Given the description of an element on the screen output the (x, y) to click on. 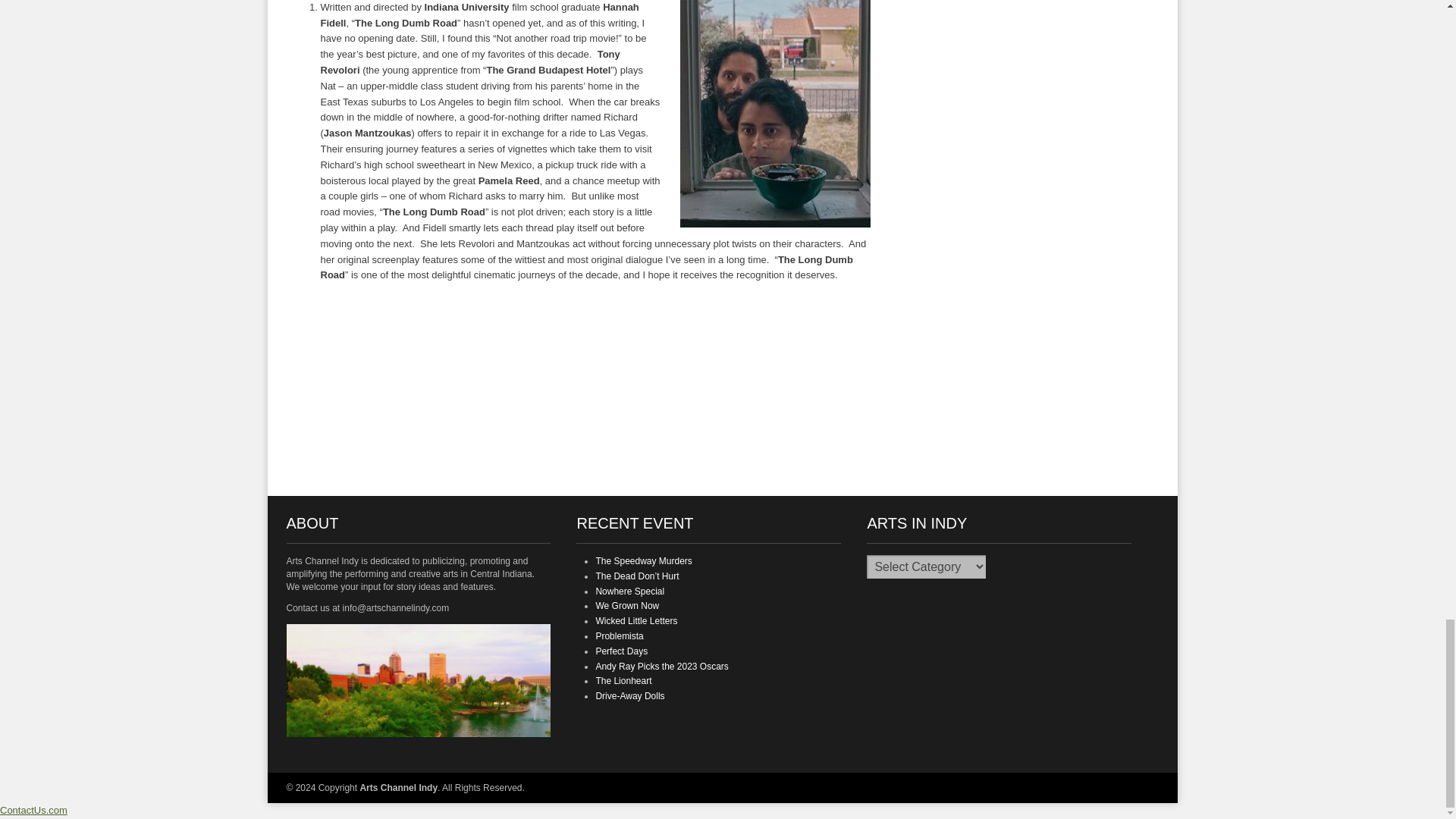
The Speedway Murders (643, 561)
Nowhere Special (629, 591)
We Grown Now (627, 605)
